Given the description of an element on the screen output the (x, y) to click on. 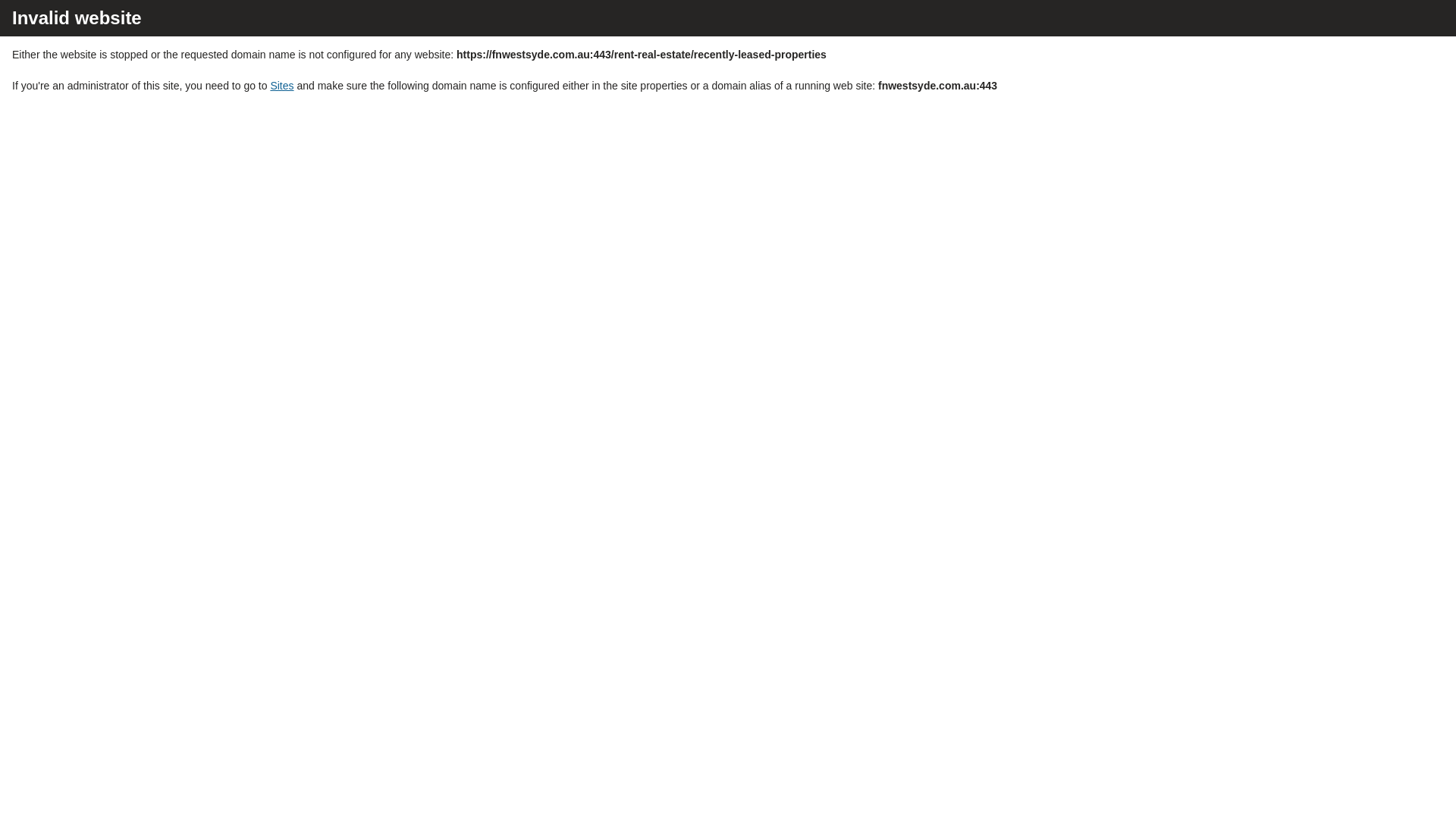
Sites Element type: text (281, 85)
